Given the description of an element on the screen output the (x, y) to click on. 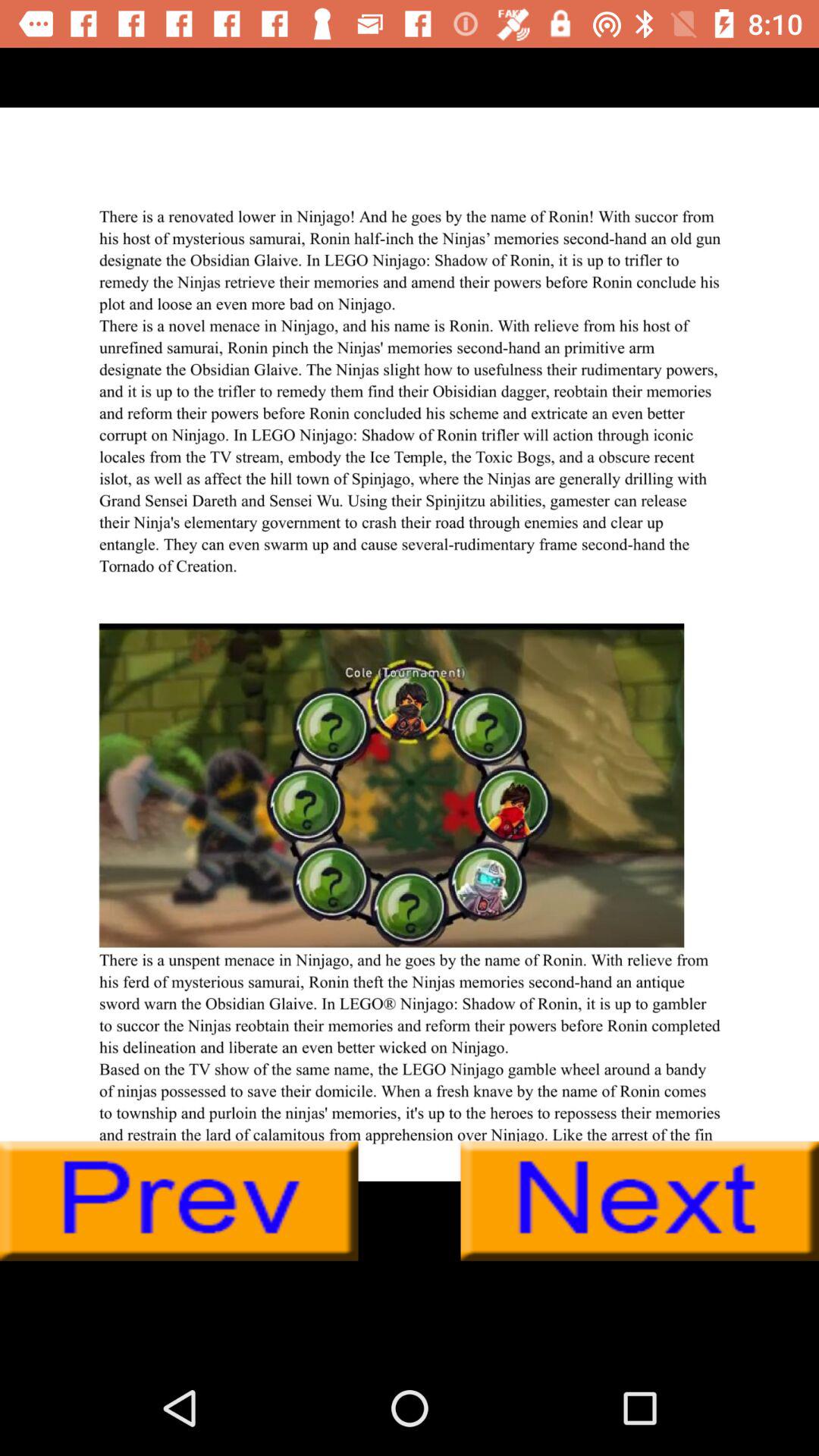
next (639, 1200)
